Given the description of an element on the screen output the (x, y) to click on. 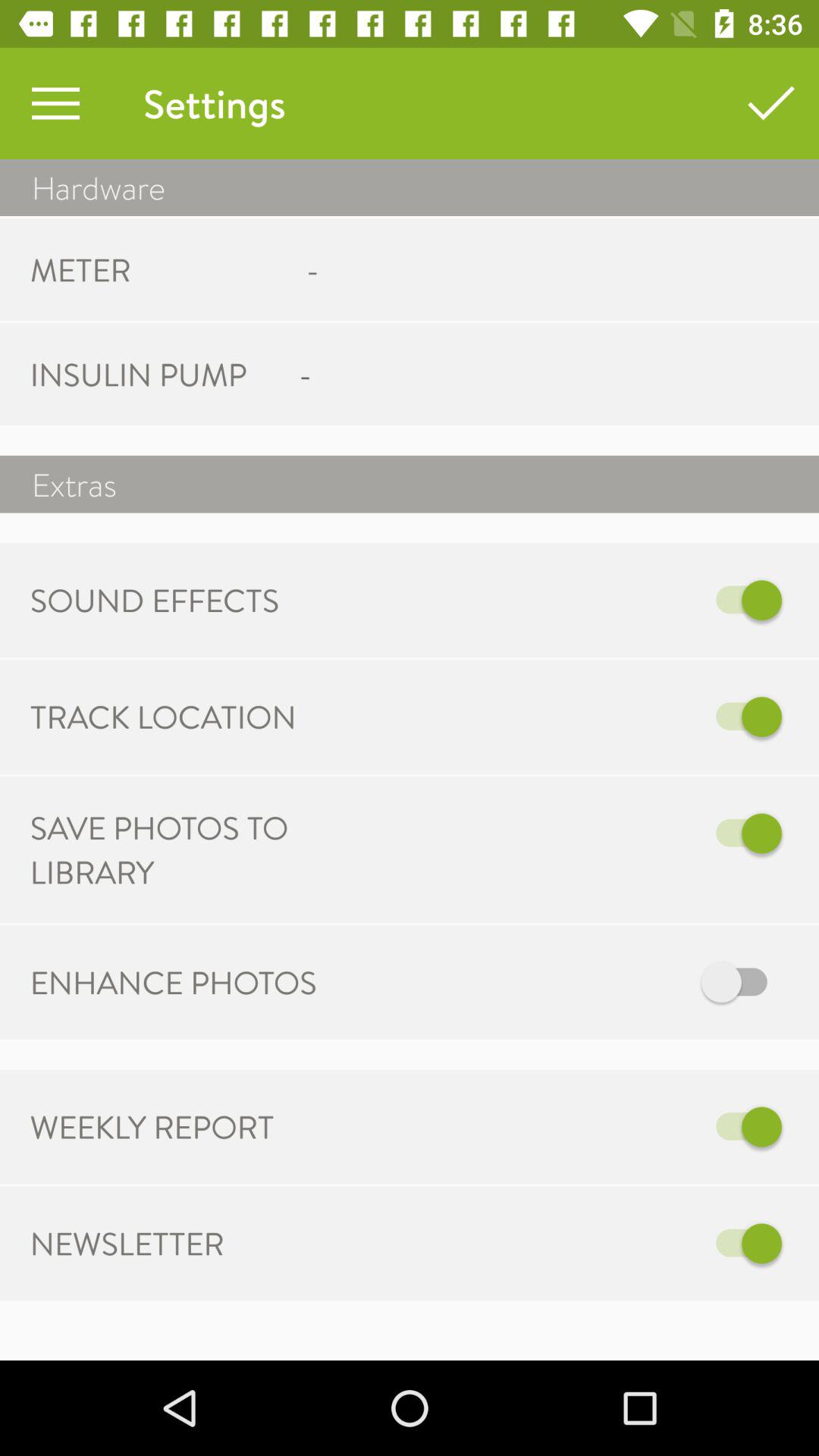
turn off item next to track location (566, 716)
